Given the description of an element on the screen output the (x, y) to click on. 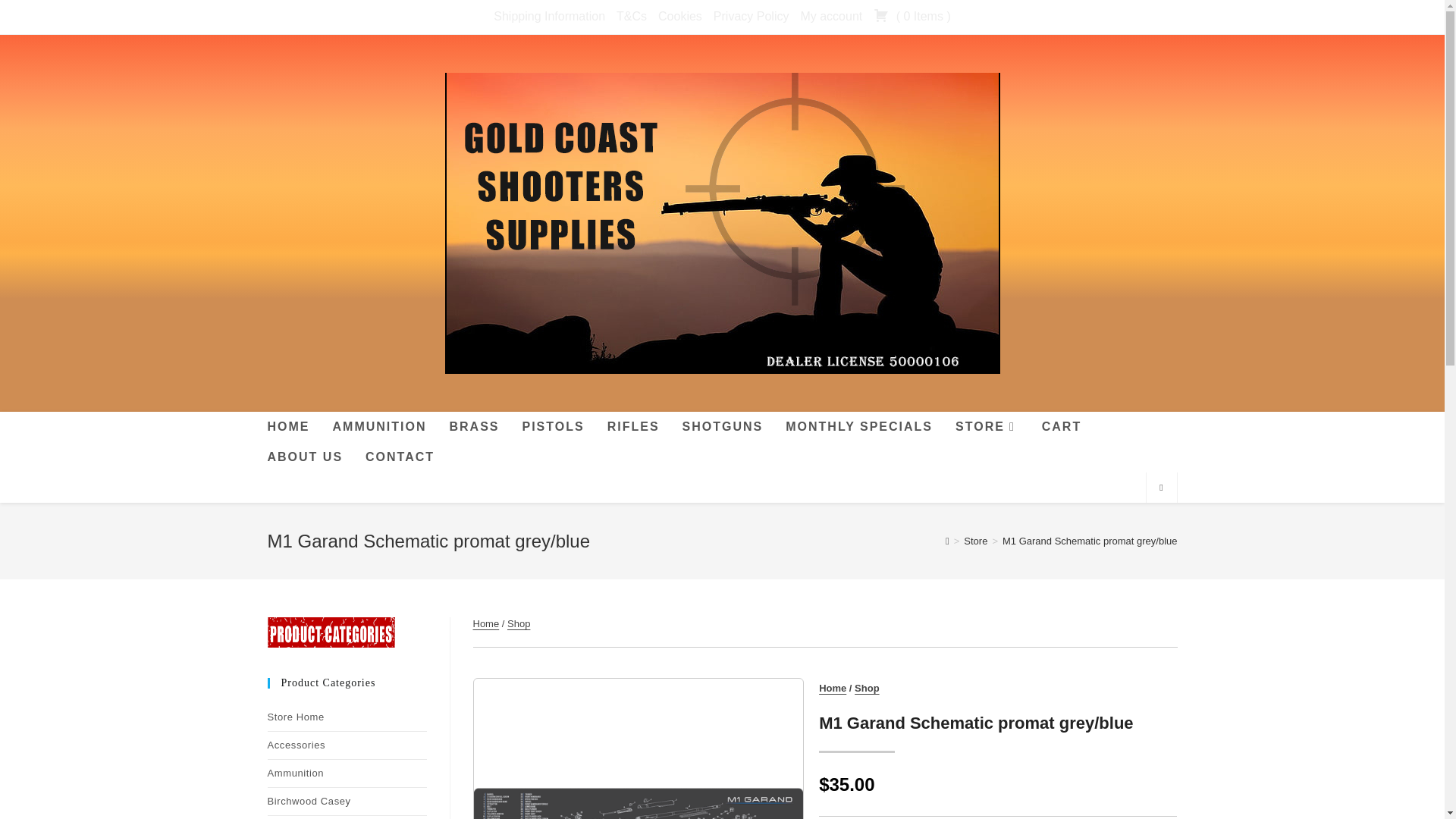
RIFLES (633, 426)
PISTOLS (553, 426)
AMMUNITION (379, 426)
ABOUT US (305, 457)
CONTACT (399, 457)
My account (830, 16)
Shipping Information (549, 16)
Cookies (679, 16)
BRASS (474, 426)
HOME (288, 426)
Privacy Policy (751, 16)
STORE (986, 426)
MONTHLY SPECIALS (858, 426)
SHOTGUNS (722, 426)
CART (1061, 426)
